Given the description of an element on the screen output the (x, y) to click on. 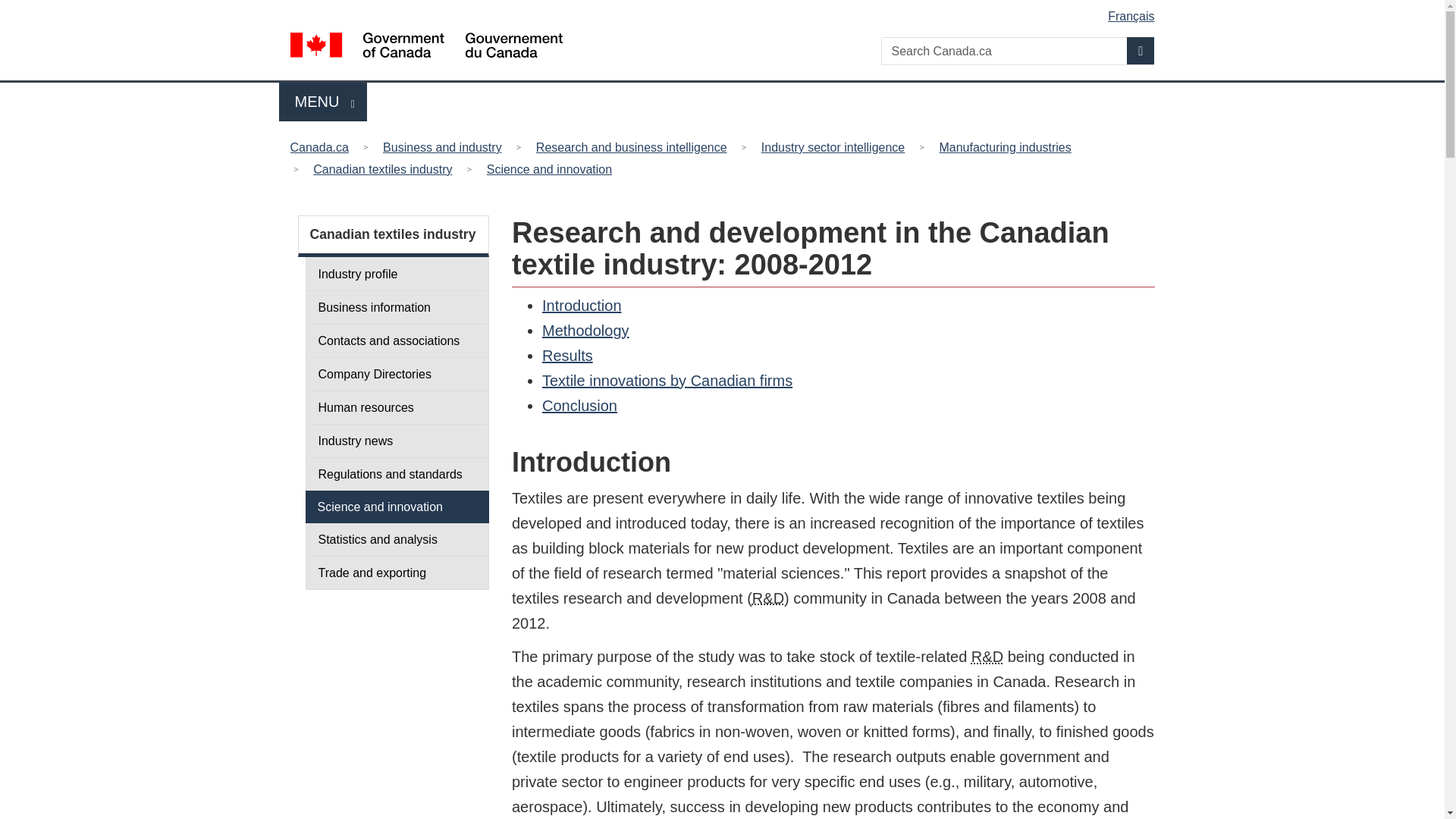
Skip to main content (725, 11)
research and development (987, 656)
Search (1140, 50)
Search (322, 101)
research and development (1140, 50)
